Given the description of an element on the screen output the (x, y) to click on. 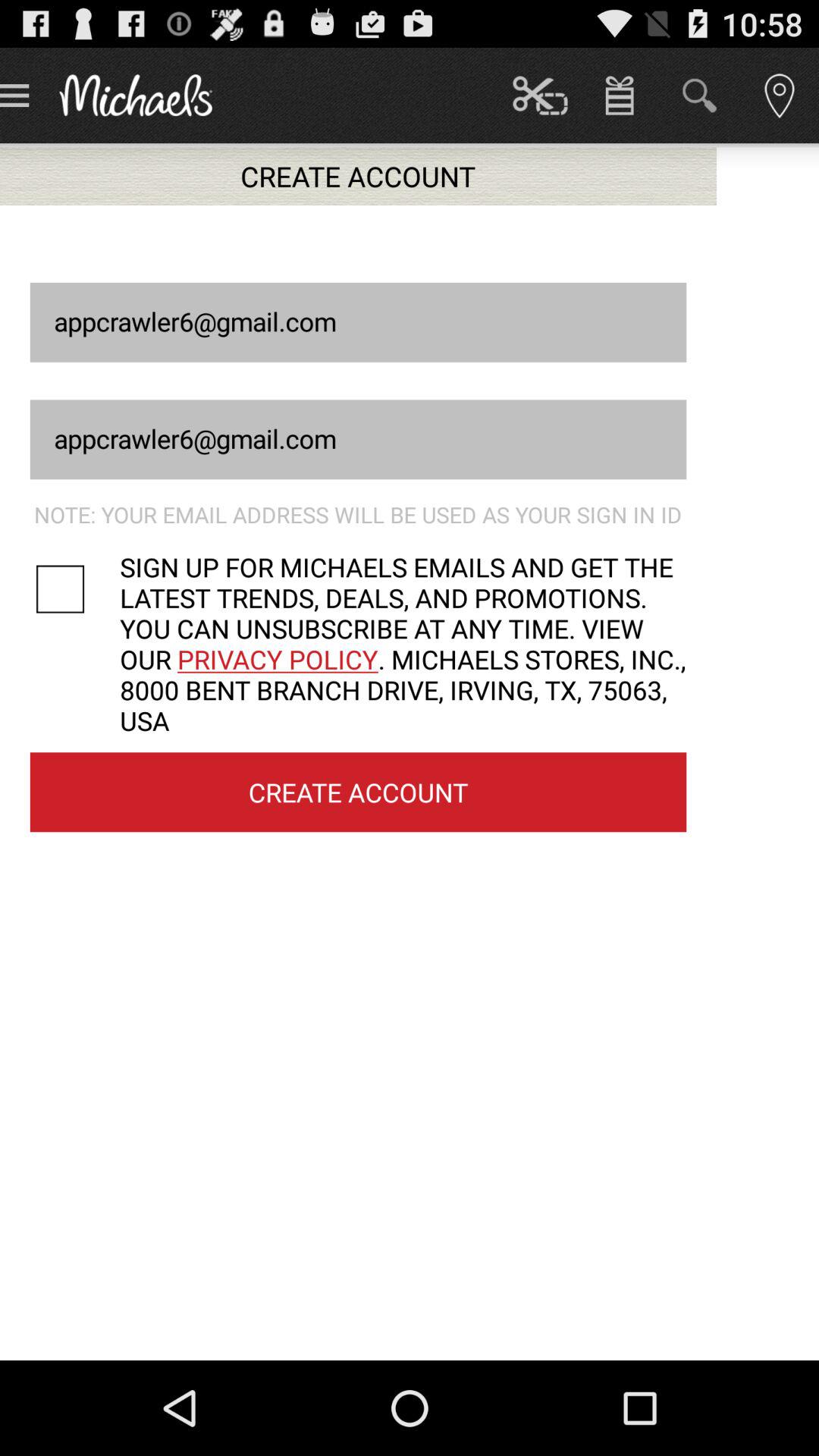
sign up for emails toggle (75, 589)
